Given the description of an element on the screen output the (x, y) to click on. 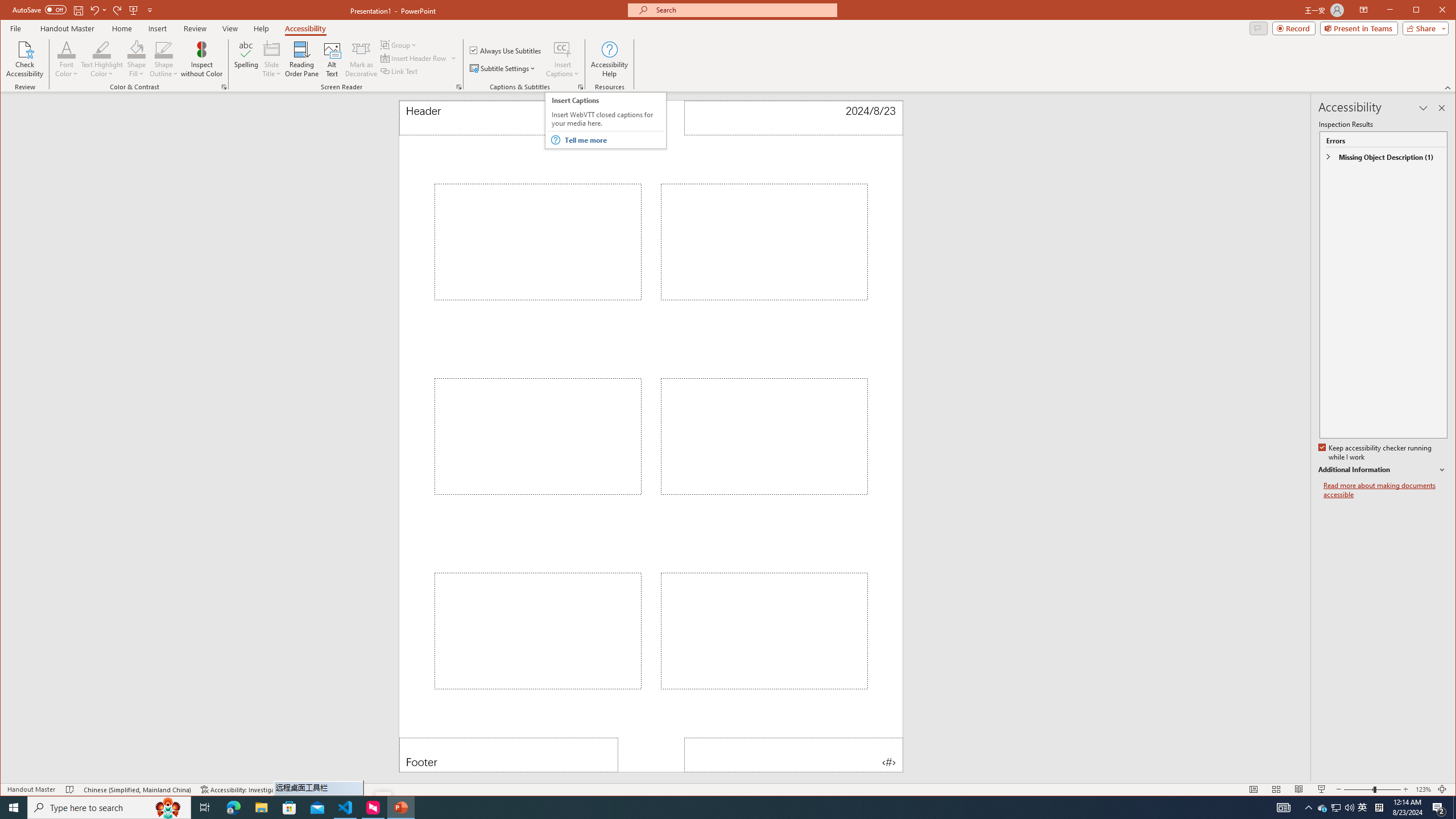
Group (399, 44)
Footer (508, 754)
Shape Fill Orange, Accent 2 (136, 48)
Subtitle Settings (502, 68)
Link Text (399, 70)
Read more about making documents accessible (1385, 489)
Page Number (793, 754)
